Given the description of an element on the screen output the (x, y) to click on. 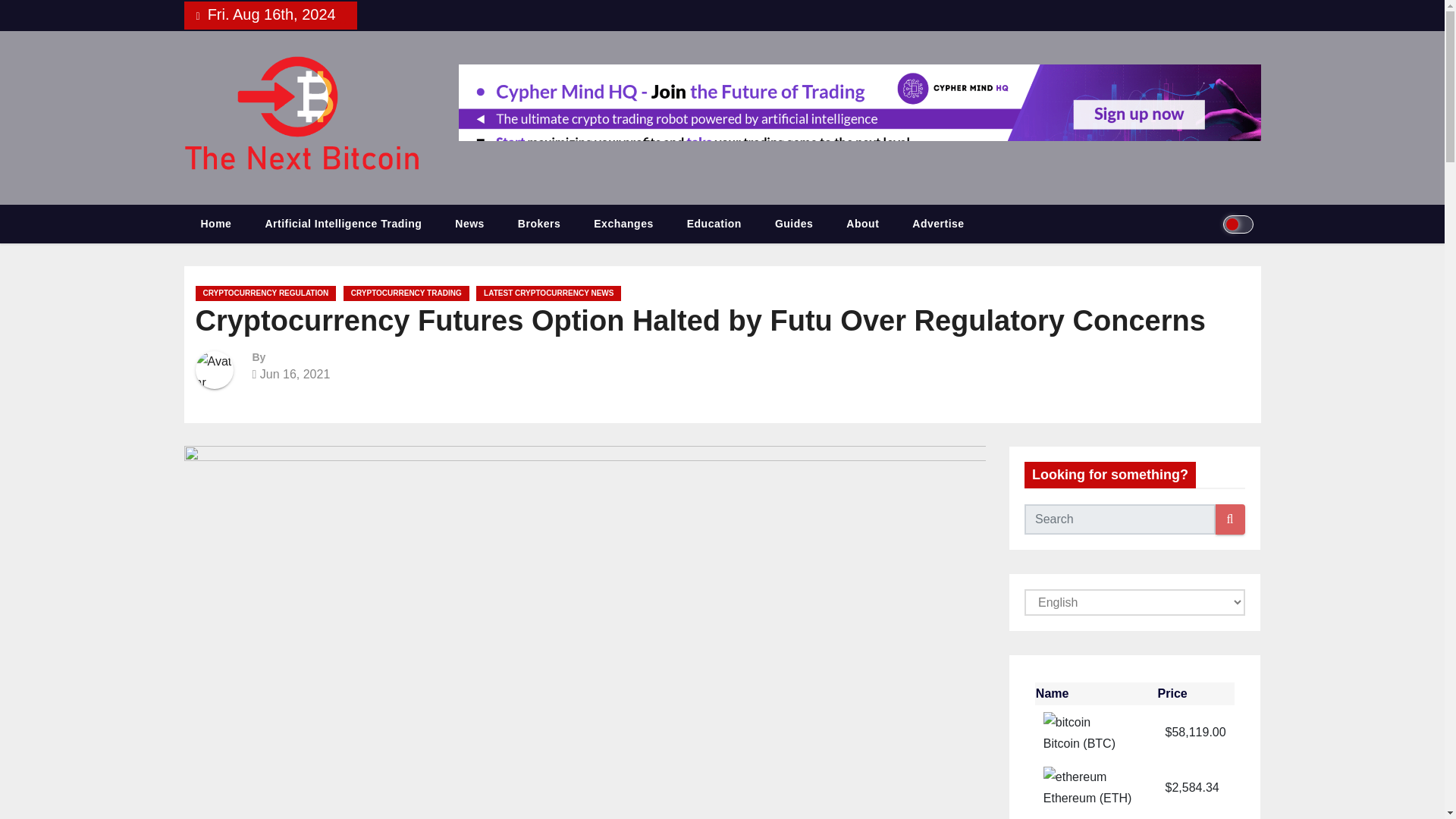
About (862, 223)
Guides (793, 223)
Exchanges (622, 223)
Home (215, 223)
Artificial Intelligence Trading (342, 223)
CRYPTOCURRENCY REGULATION (265, 293)
Artificial Intelligence Trading (342, 223)
News (469, 223)
Brokers (538, 223)
Advertise (937, 223)
